Given the description of an element on the screen output the (x, y) to click on. 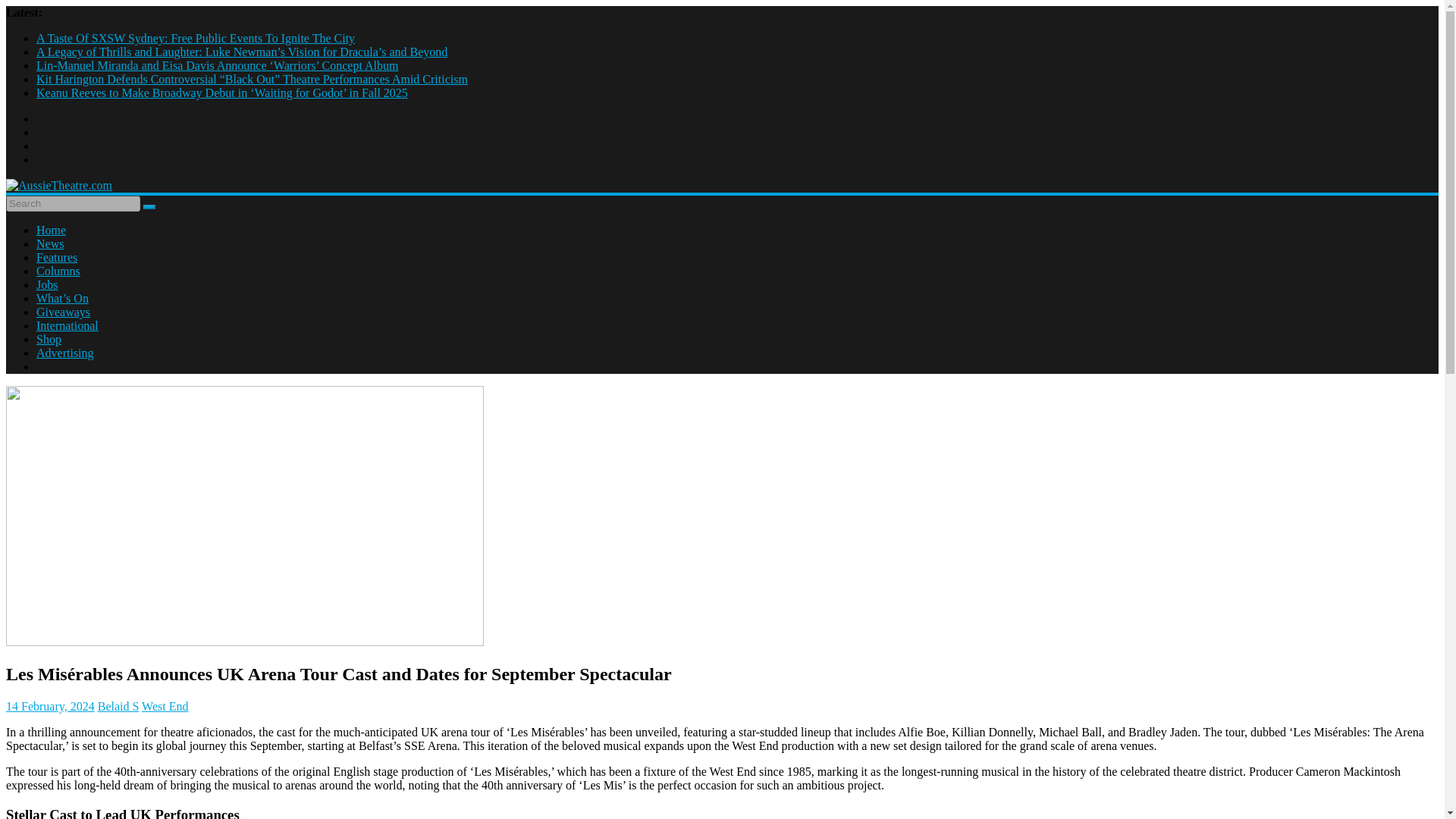
Belaid S (118, 706)
News (50, 243)
Home (50, 229)
8:20 pm (49, 706)
Jobs (47, 284)
Giveaways (63, 311)
14 February, 2024 (49, 706)
Belaid S (118, 706)
International (67, 325)
Shop (48, 338)
Advertising (65, 352)
Features (56, 256)
